Given the description of an element on the screen output the (x, y) to click on. 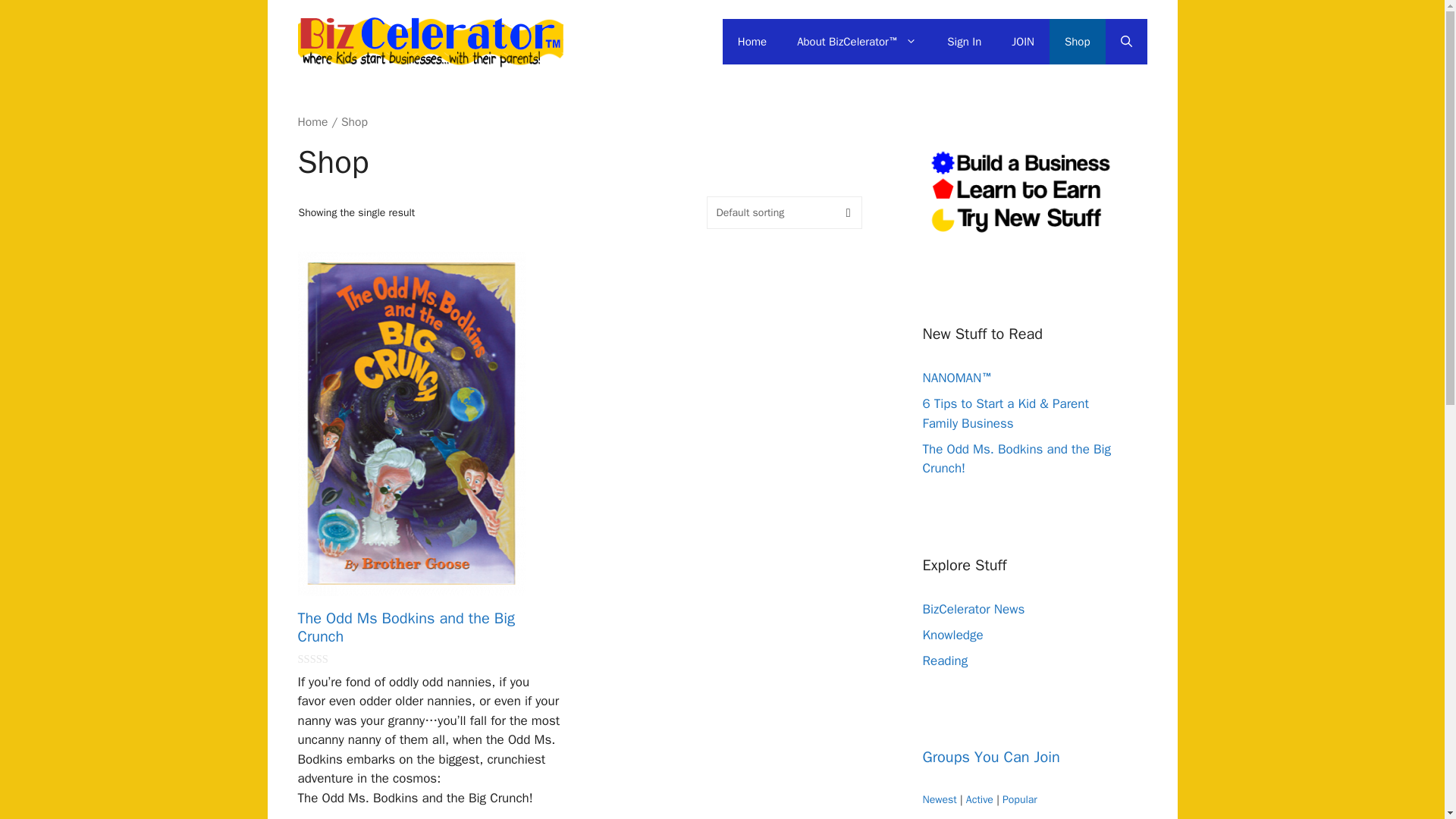
JOIN (1022, 41)
Not yet rated (326, 659)
Shop (1077, 41)
Home (312, 121)
Sign In (963, 41)
Home (751, 41)
Groups You Can Join (990, 756)
BizCelerator News (973, 609)
Reading (944, 660)
The Odd Ms. Bodkins and the Big Crunch! (1015, 458)
Knowledge (951, 634)
